Given the description of an element on the screen output the (x, y) to click on. 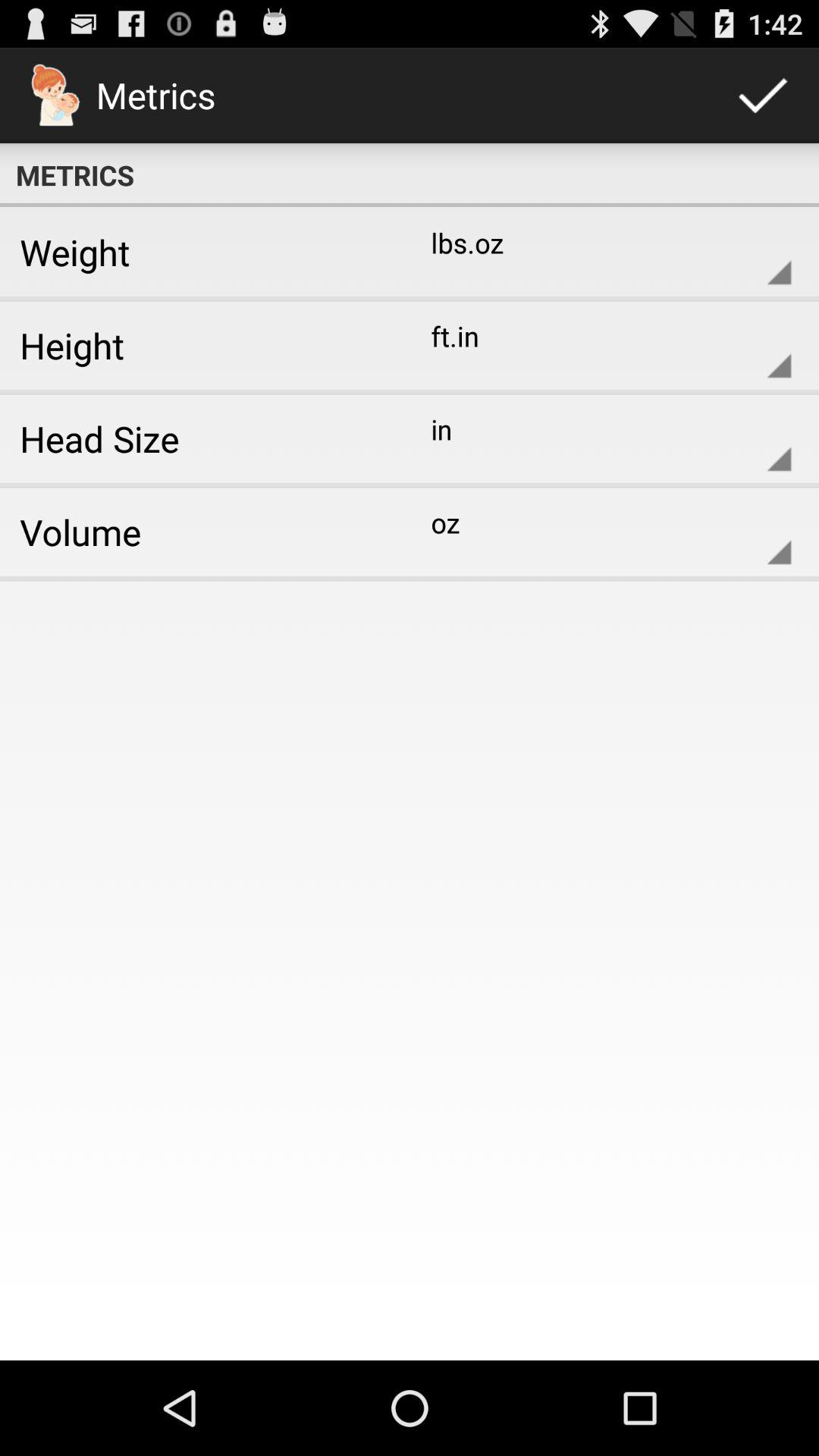
open item to the left of oz app (199, 531)
